Given the description of an element on the screen output the (x, y) to click on. 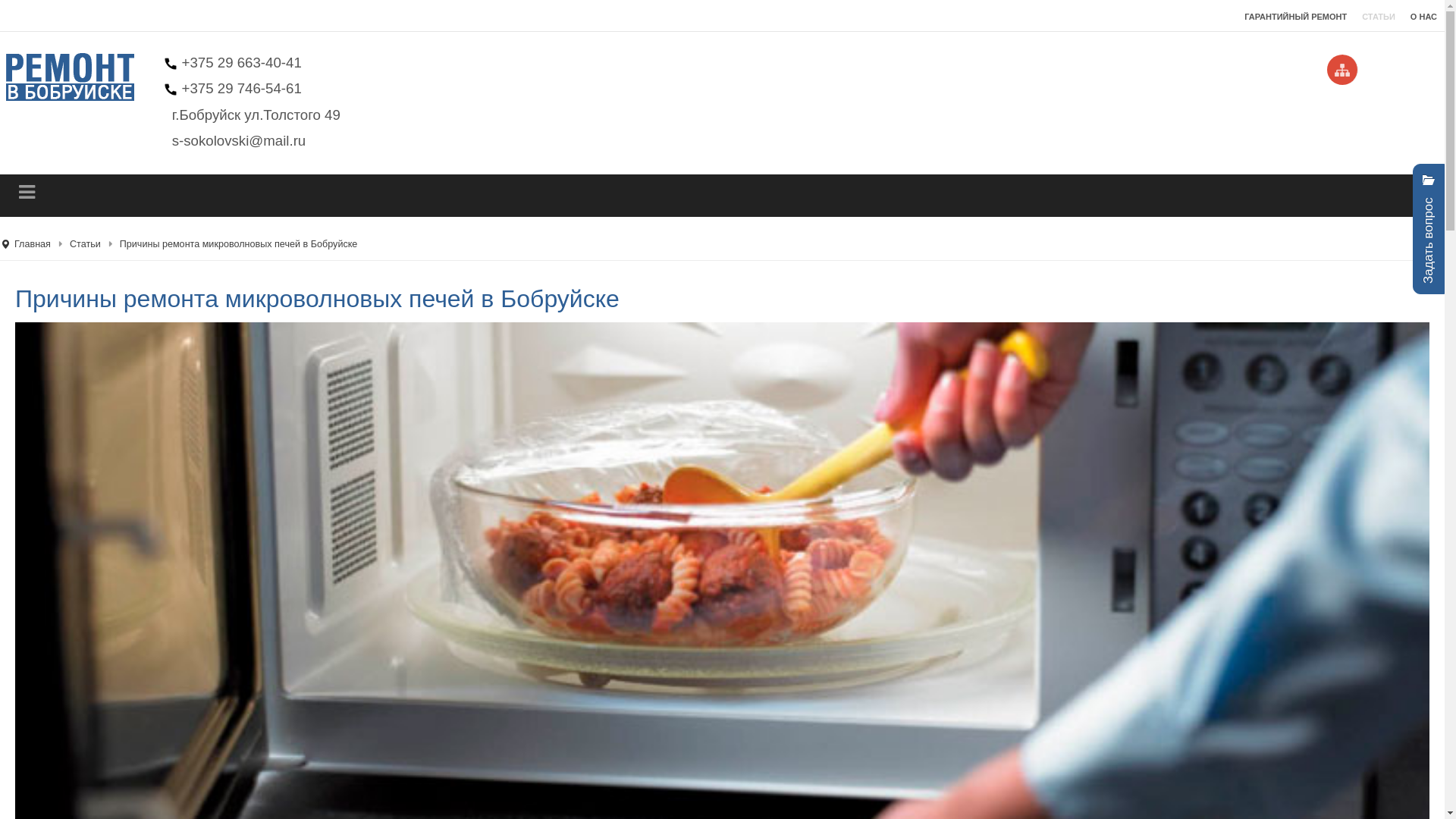
+375 29 746-54-61 Element type: text (241, 88)
+375 29 663-40-41 Element type: text (241, 62)
s-sokolovski@mail.ru Element type: text (246, 140)
